Given the description of an element on the screen output the (x, y) to click on. 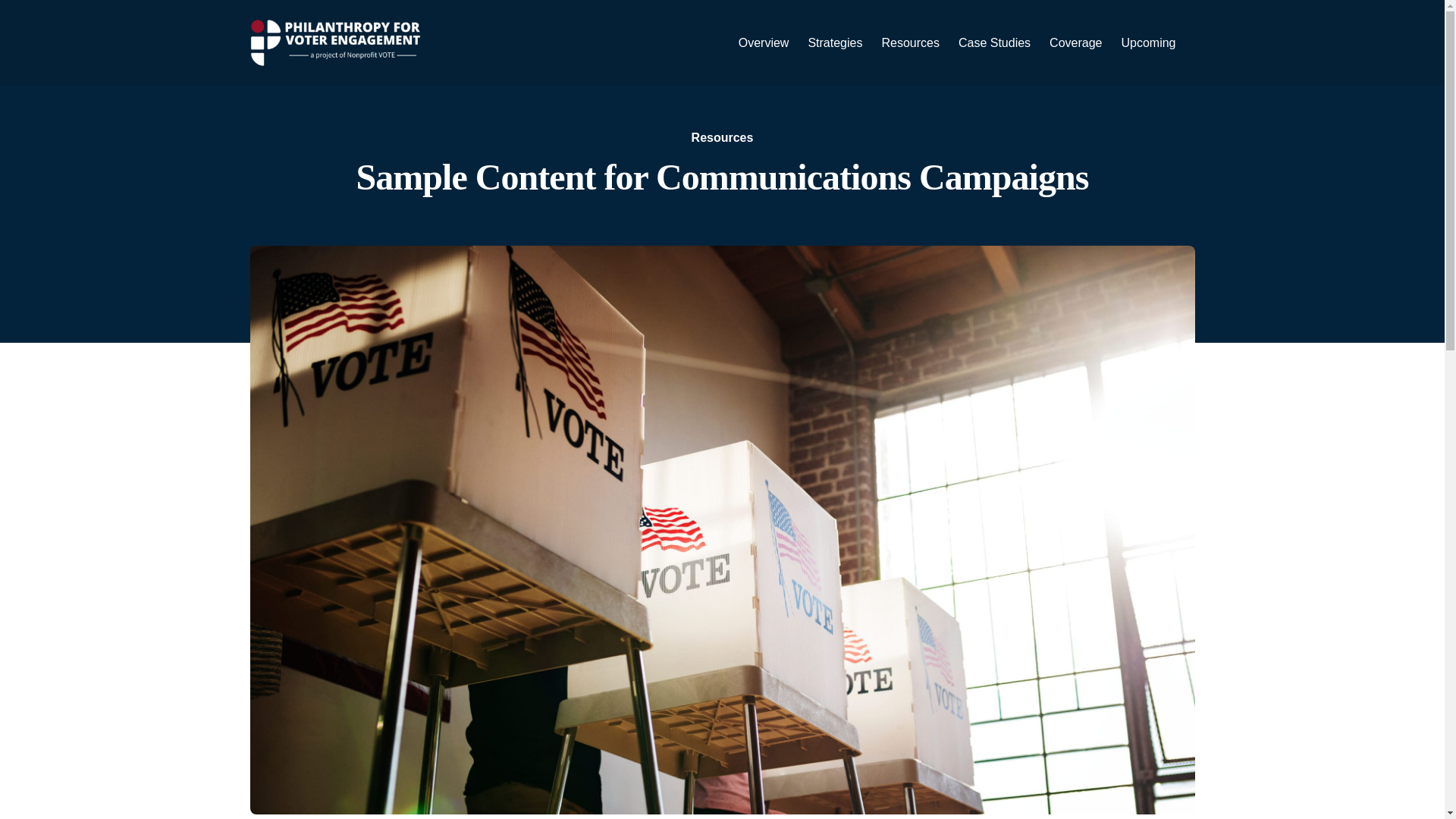
Case Studies (994, 42)
Upcoming (1147, 42)
Overview (763, 42)
Resources (909, 42)
Coverage (1075, 42)
Strategies (834, 42)
